Given the description of an element on the screen output the (x, y) to click on. 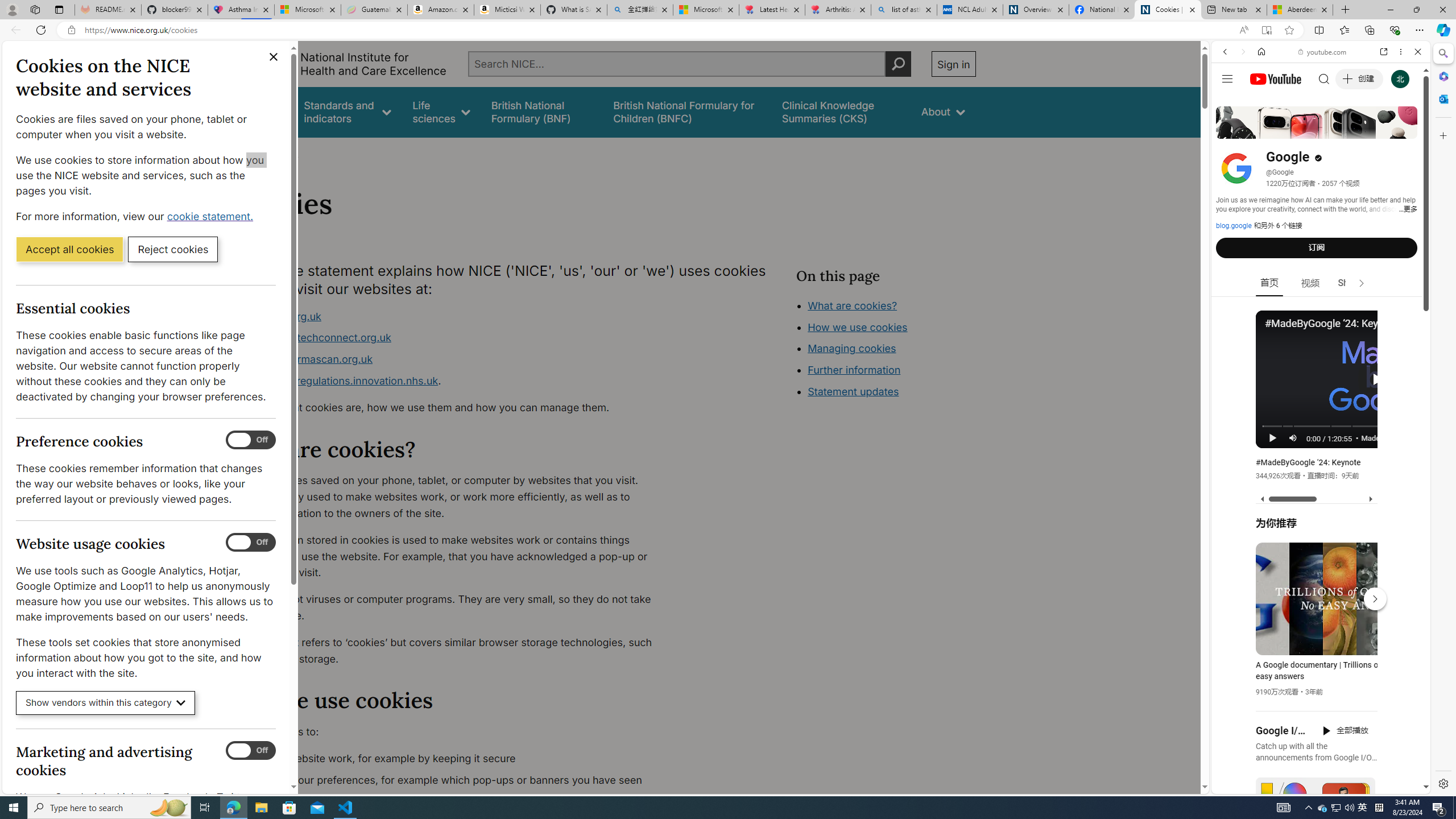
Guidance (260, 111)
AutomationID: right (1361, 283)
Perform search (898, 63)
make our website work, for example by keeping it secure (452, 759)
you (1315, 755)
Managing cookies (852, 348)
US[ju] (1249, 785)
Class: dict_pnIcon rms_img (1312, 784)
